Given the description of an element on the screen output the (x, y) to click on. 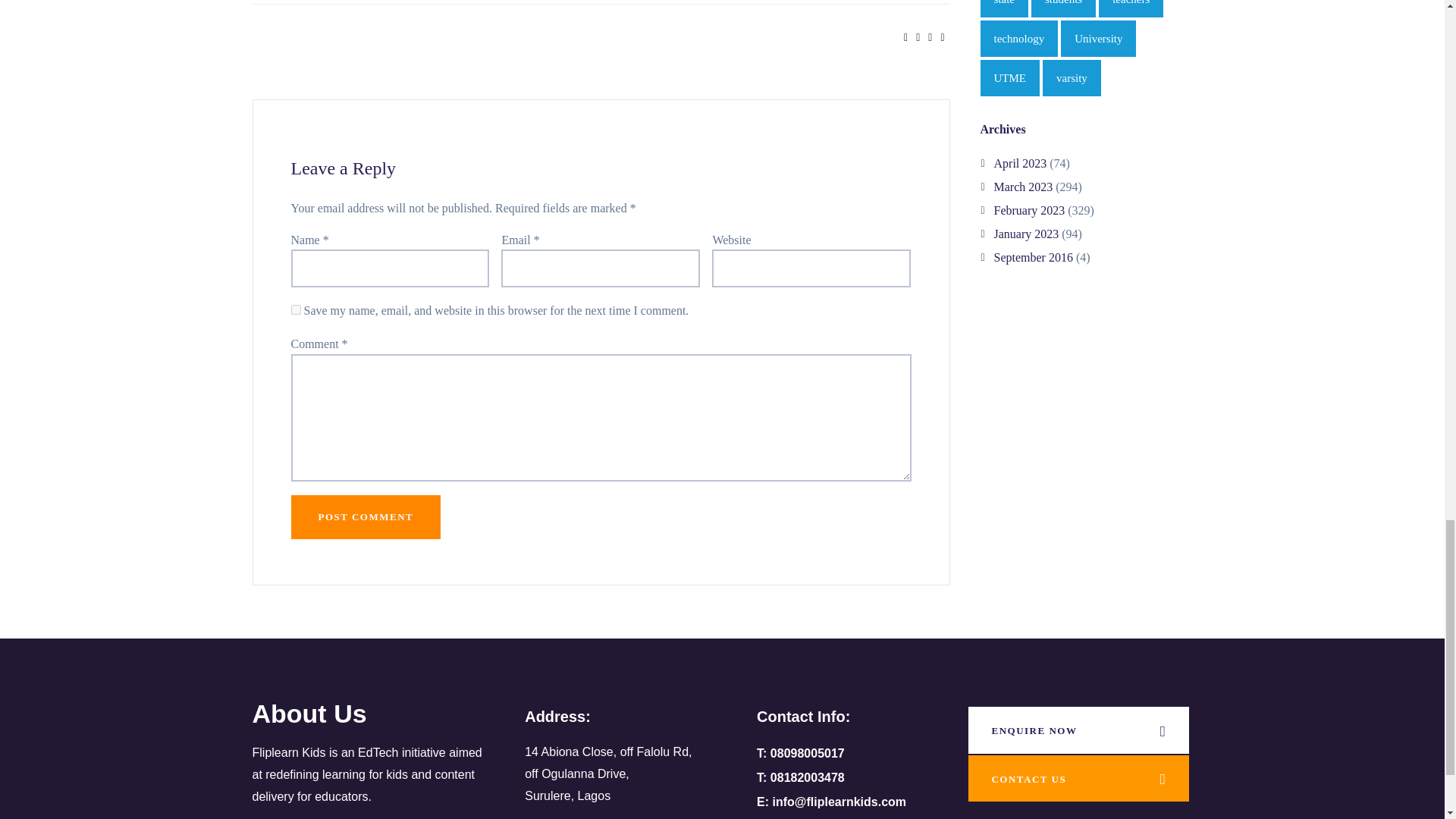
Post Comment (366, 516)
yes (296, 309)
